Given the description of an element on the screen output the (x, y) to click on. 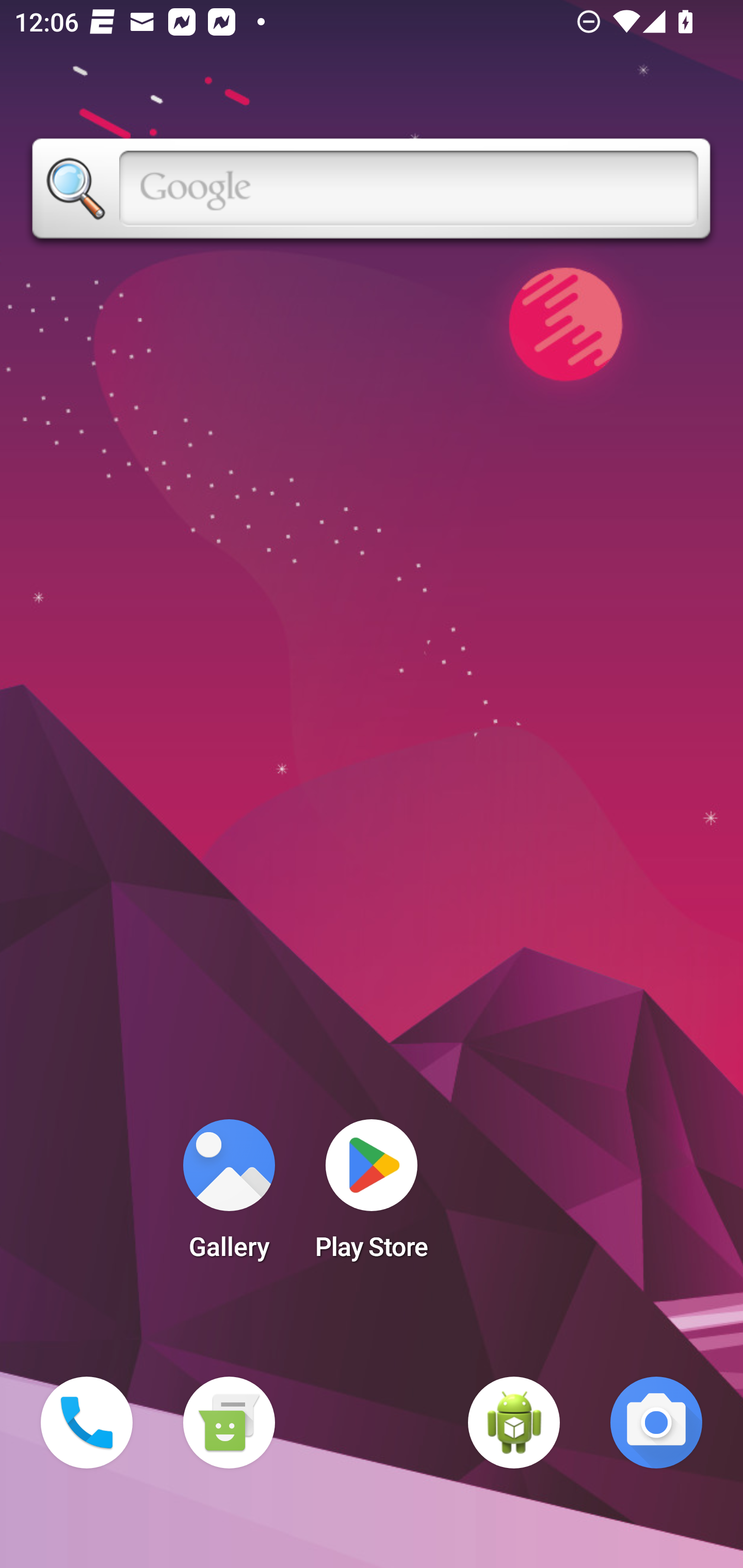
Gallery (228, 1195)
Play Store (371, 1195)
Phone (86, 1422)
Messaging (228, 1422)
WebView Browser Tester (513, 1422)
Camera (656, 1422)
